Given the description of an element on the screen output the (x, y) to click on. 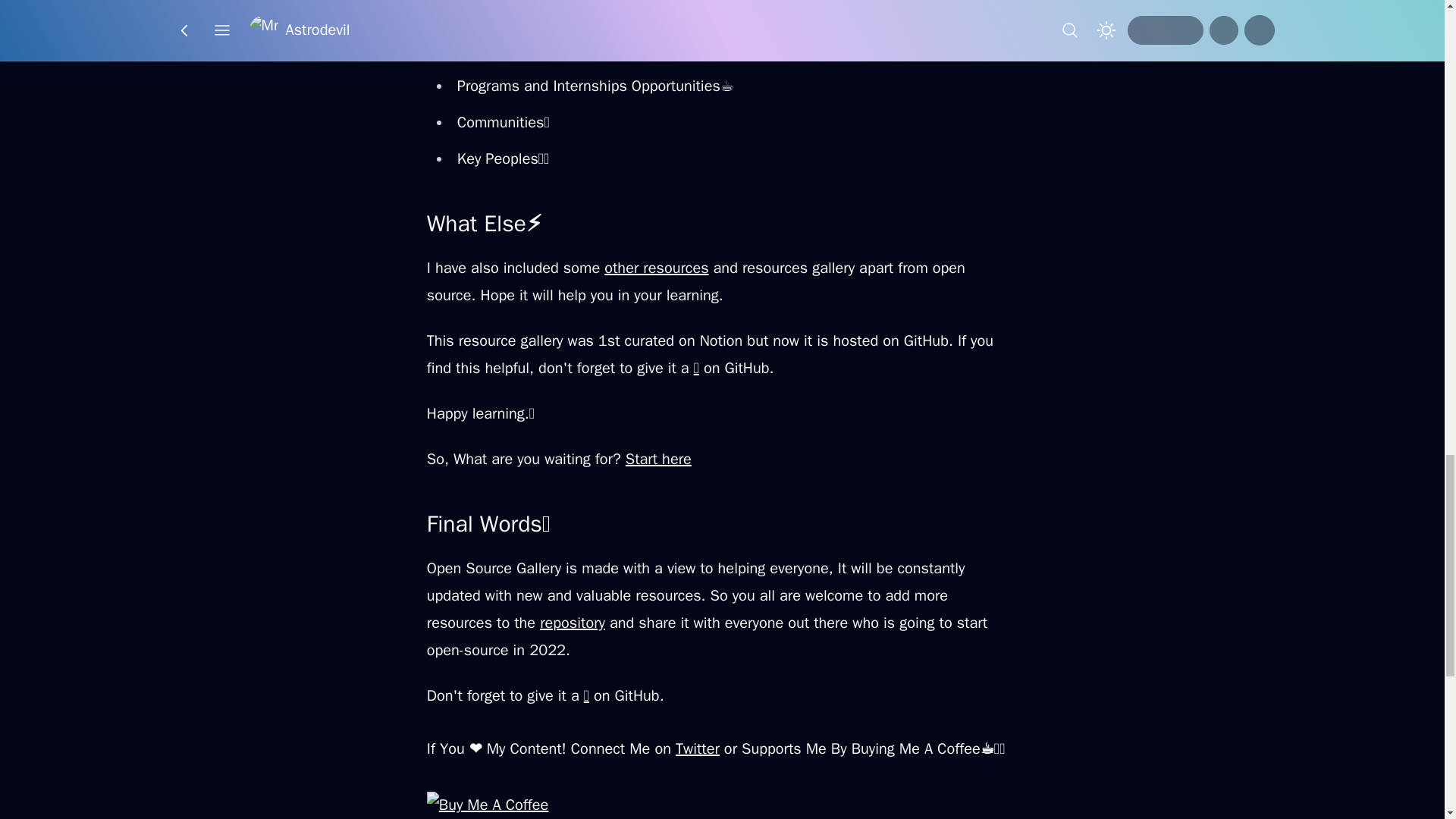
other resources (655, 267)
Start here (658, 458)
repository (572, 622)
Twitter (697, 748)
